Given the description of an element on the screen output the (x, y) to click on. 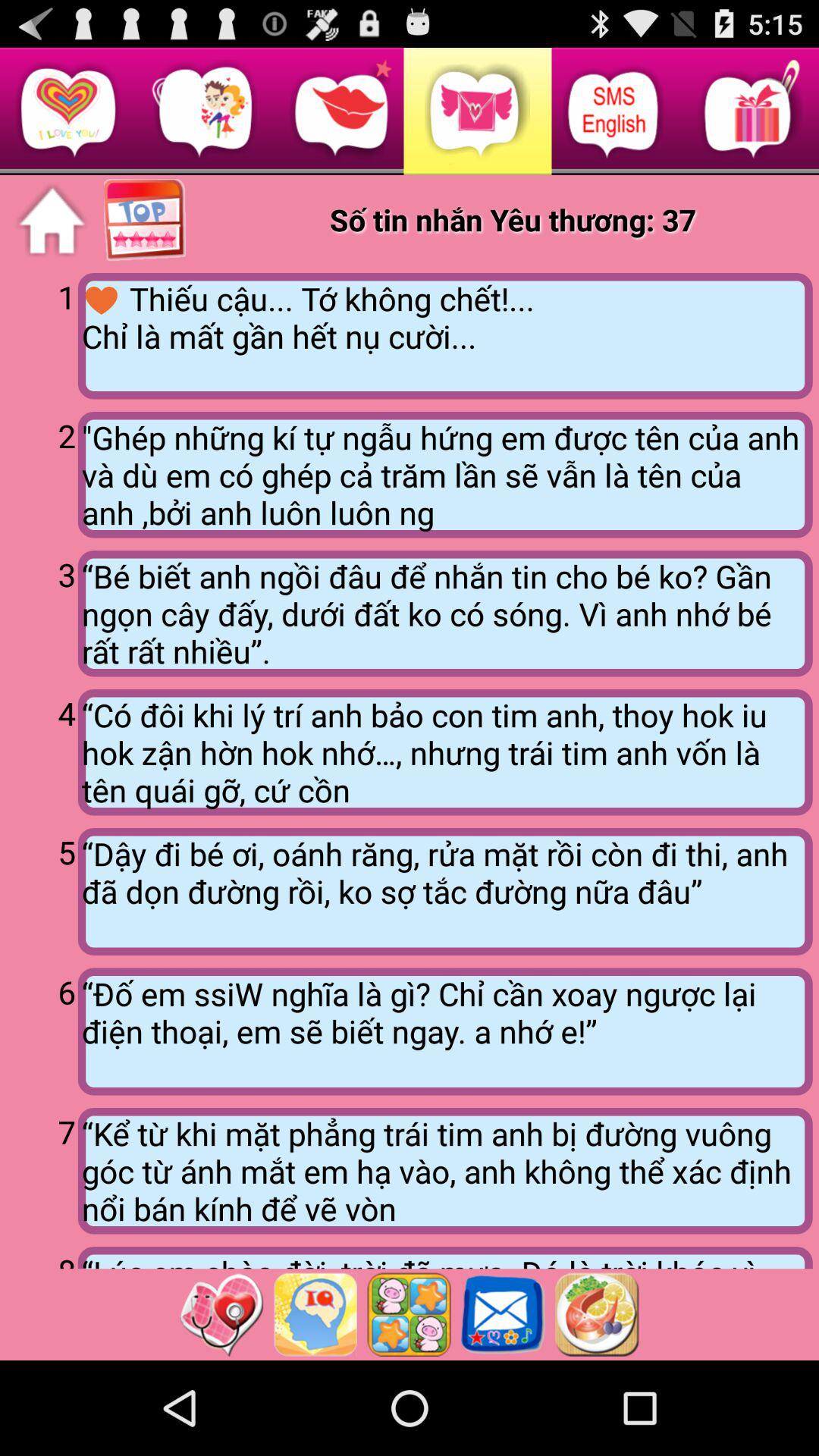
check the iq level (315, 1314)
